Given the description of an element on the screen output the (x, y) to click on. 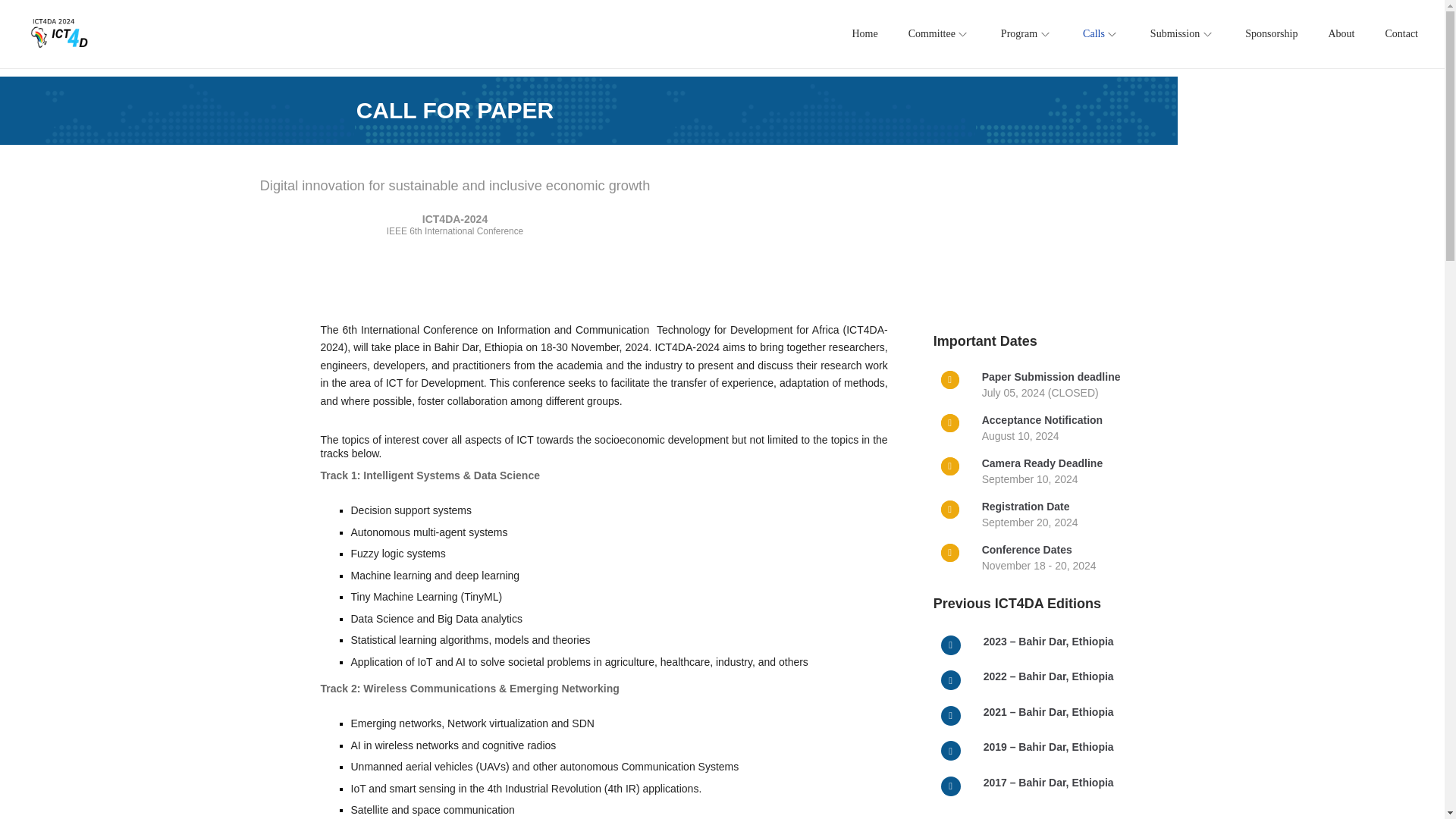
Sponsorship (1270, 33)
Submission (1182, 33)
Committee (939, 33)
Calls (1101, 33)
Program (1026, 33)
Home (864, 33)
